Given the description of an element on the screen output the (x, y) to click on. 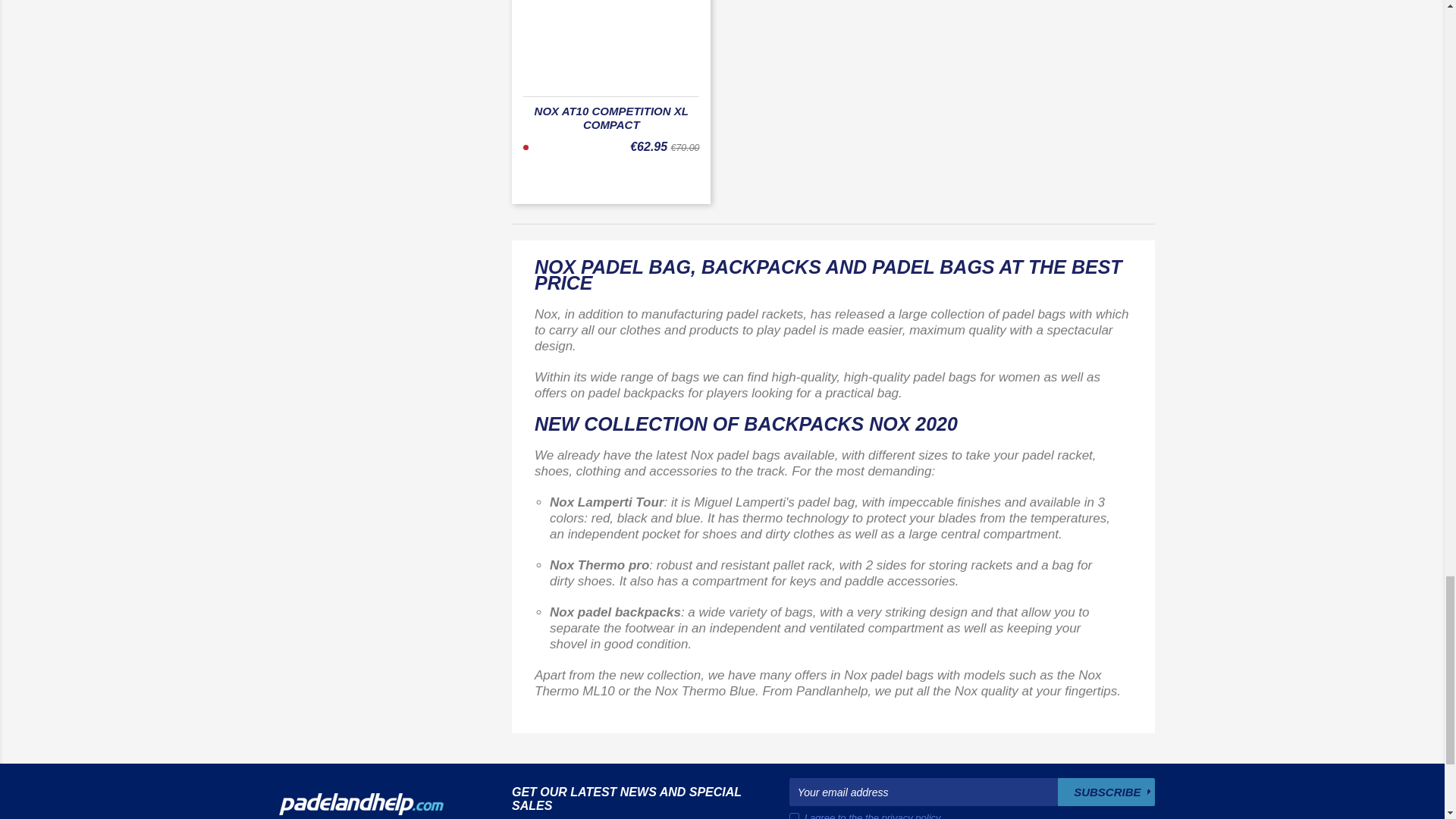
Subscribe (1106, 791)
